Given the description of an element on the screen output the (x, y) to click on. 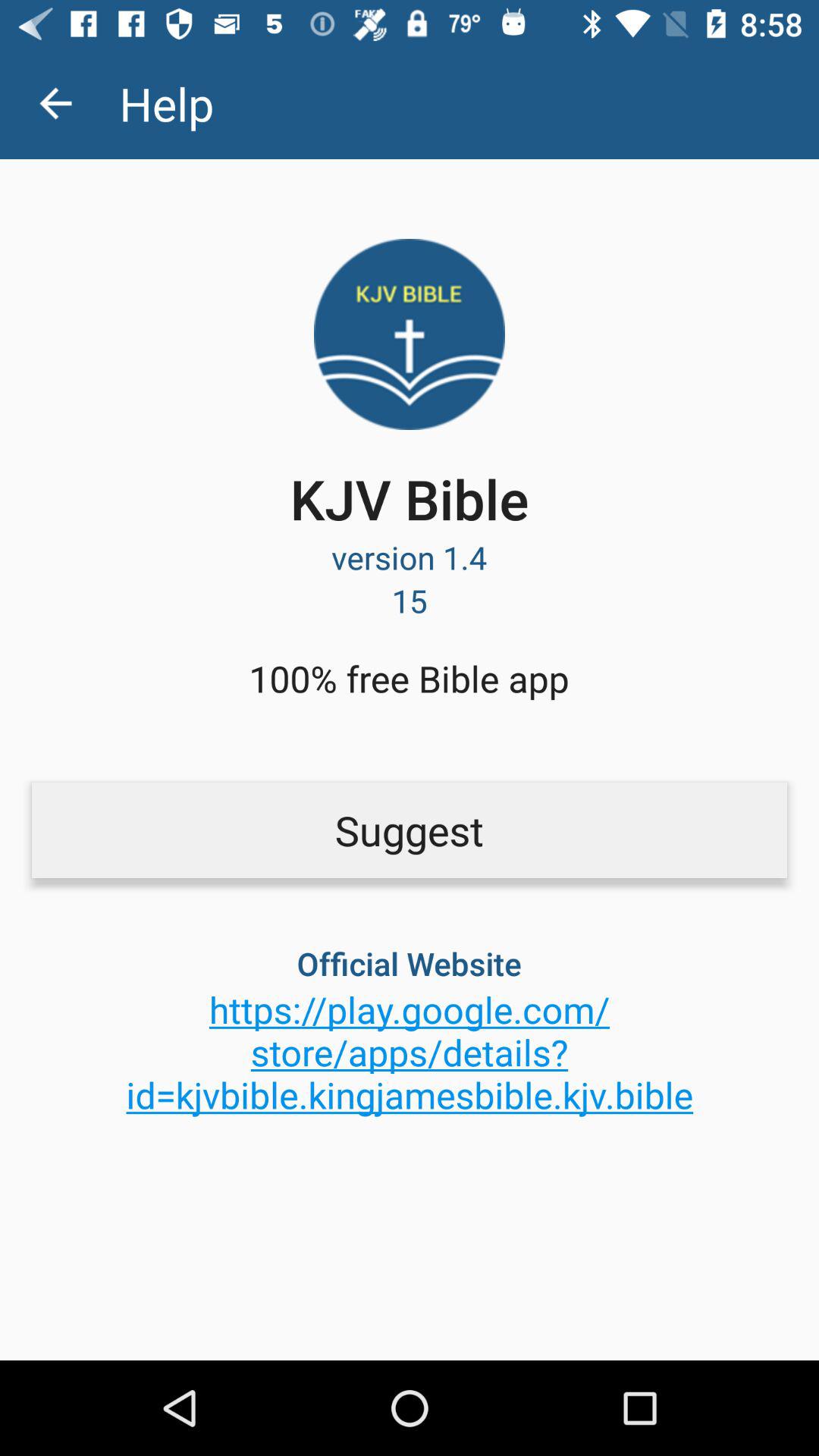
flip to 100 free bible item (409, 678)
